Given the description of an element on the screen output the (x, y) to click on. 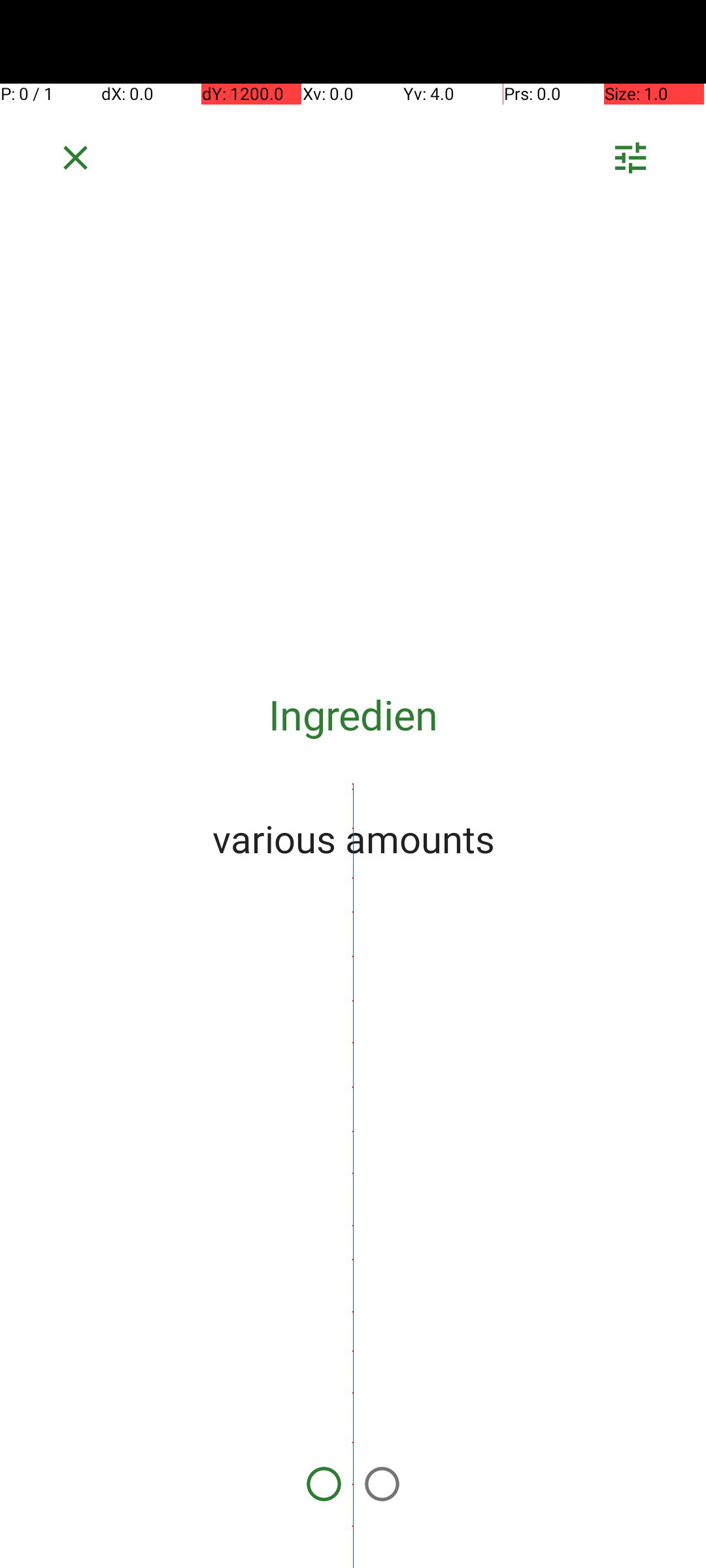
various amounts Element type: android.widget.TextView (352, 838)
